Given the description of an element on the screen output the (x, y) to click on. 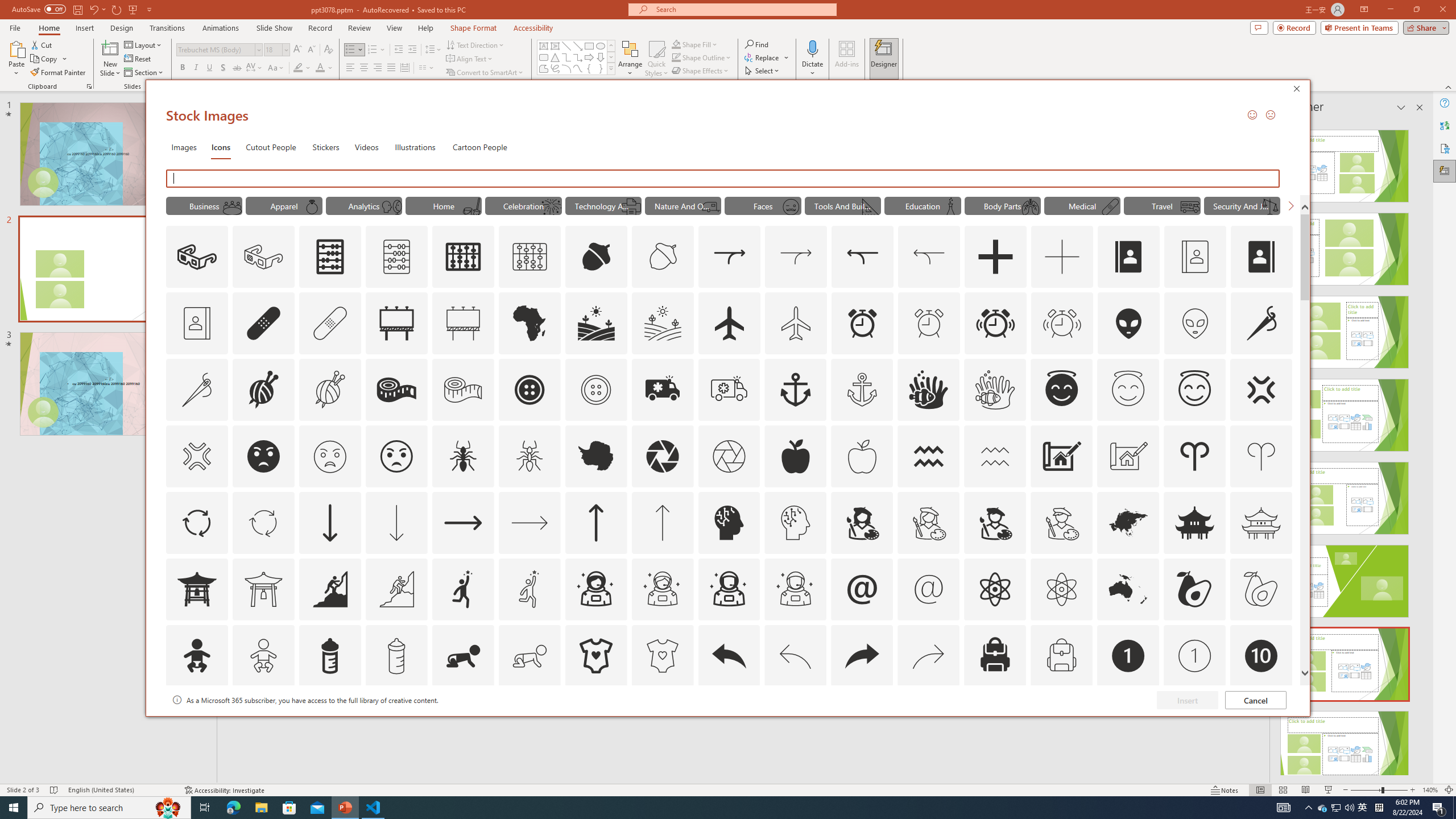
AutomationID: Icons_Badge1 (1128, 655)
AutomationID: Icons_Badge6 (795, 721)
AutomationID: Icons_Badge10_M (196, 721)
AutomationID: Icons_Add_M (1062, 256)
Zoom 140% (1430, 790)
Strikethrough (237, 67)
"Body Parts" Icons. (1002, 205)
AutomationID: Icons_Badge2_M (329, 721)
